Given the description of an element on the screen output the (x, y) to click on. 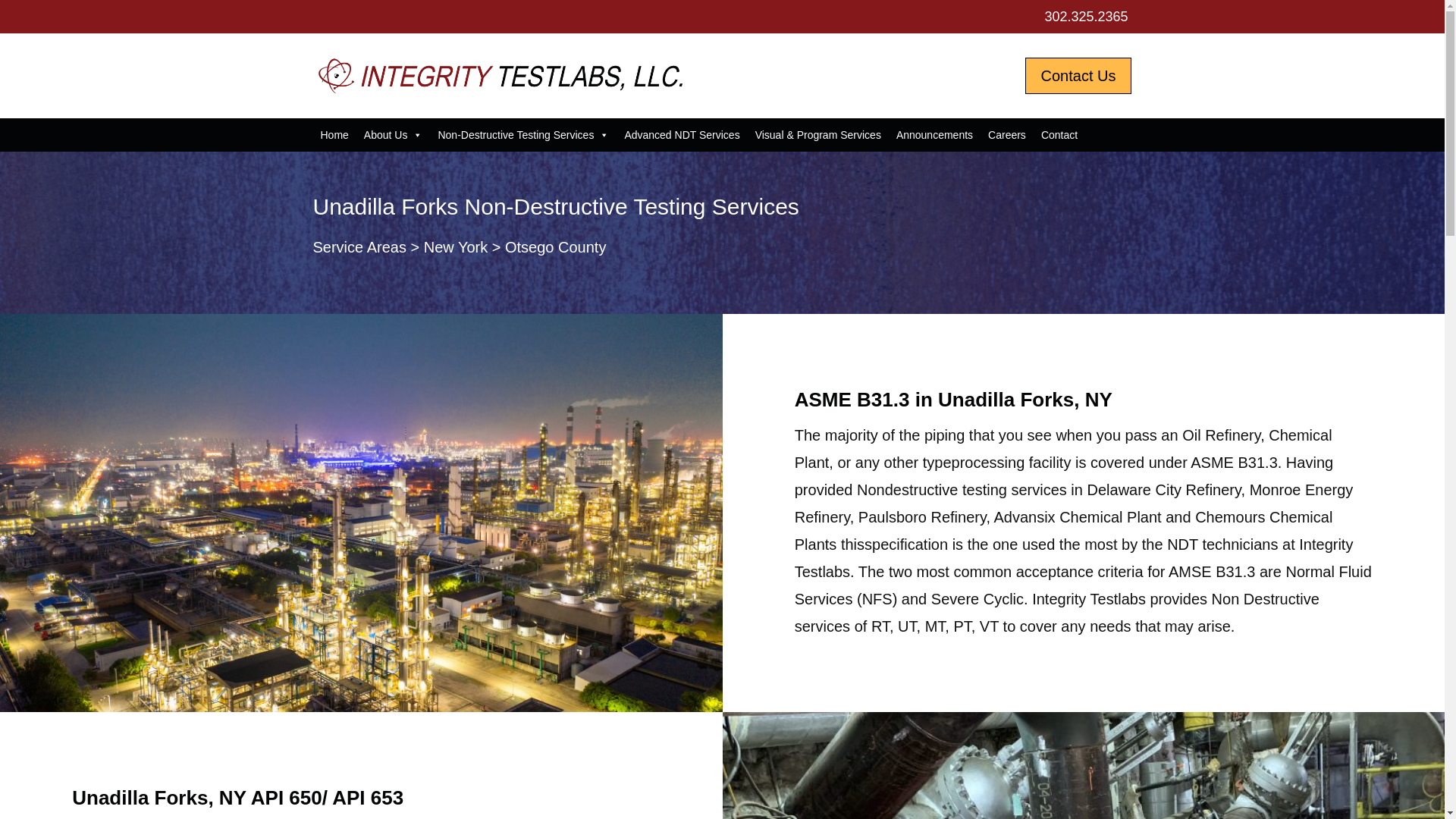
New York (455, 247)
Contact Us (1078, 75)
Careers (1006, 134)
Service Areas (359, 247)
About Us (393, 134)
302.325.2365 (1084, 16)
Announcements (933, 134)
Home (334, 134)
Integrity-Teslabs-Asset-Integrity (505, 75)
Otsego County (555, 247)
Advanced NDT Services (680, 134)
Contact (1058, 134)
Non-Destructive Testing Services (522, 134)
